Given the description of an element on the screen output the (x, y) to click on. 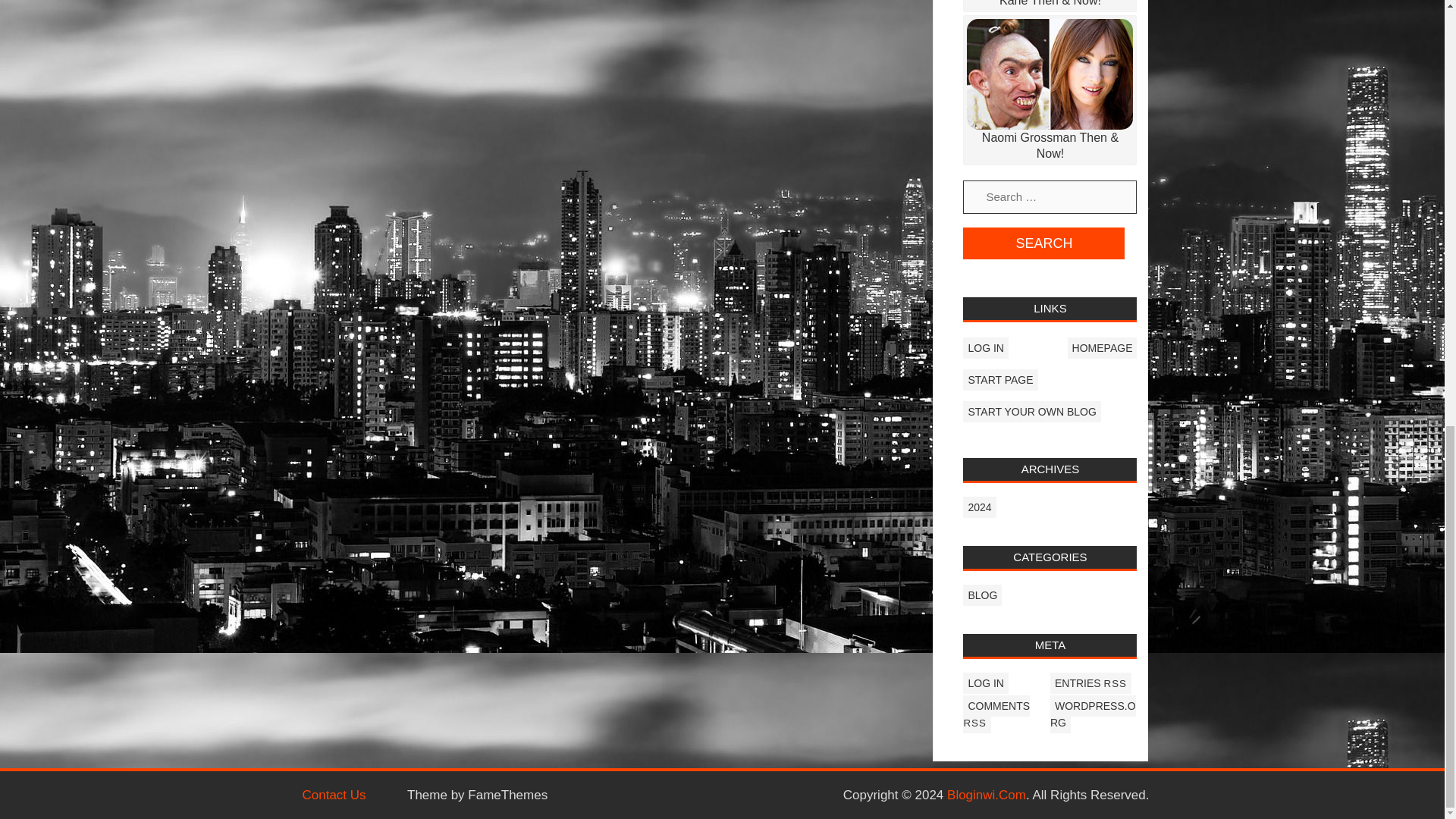
Bloginwi.Com (986, 796)
HOMEPAGE (1102, 347)
WORDPRESS.ORG (1092, 714)
2024 (978, 506)
Search (1043, 243)
BLOG (981, 595)
COMMENTS RSS (995, 714)
Search (1043, 243)
Really Simple Syndication (973, 722)
ENTRIES RSS (1090, 682)
